Given the description of an element on the screen output the (x, y) to click on. 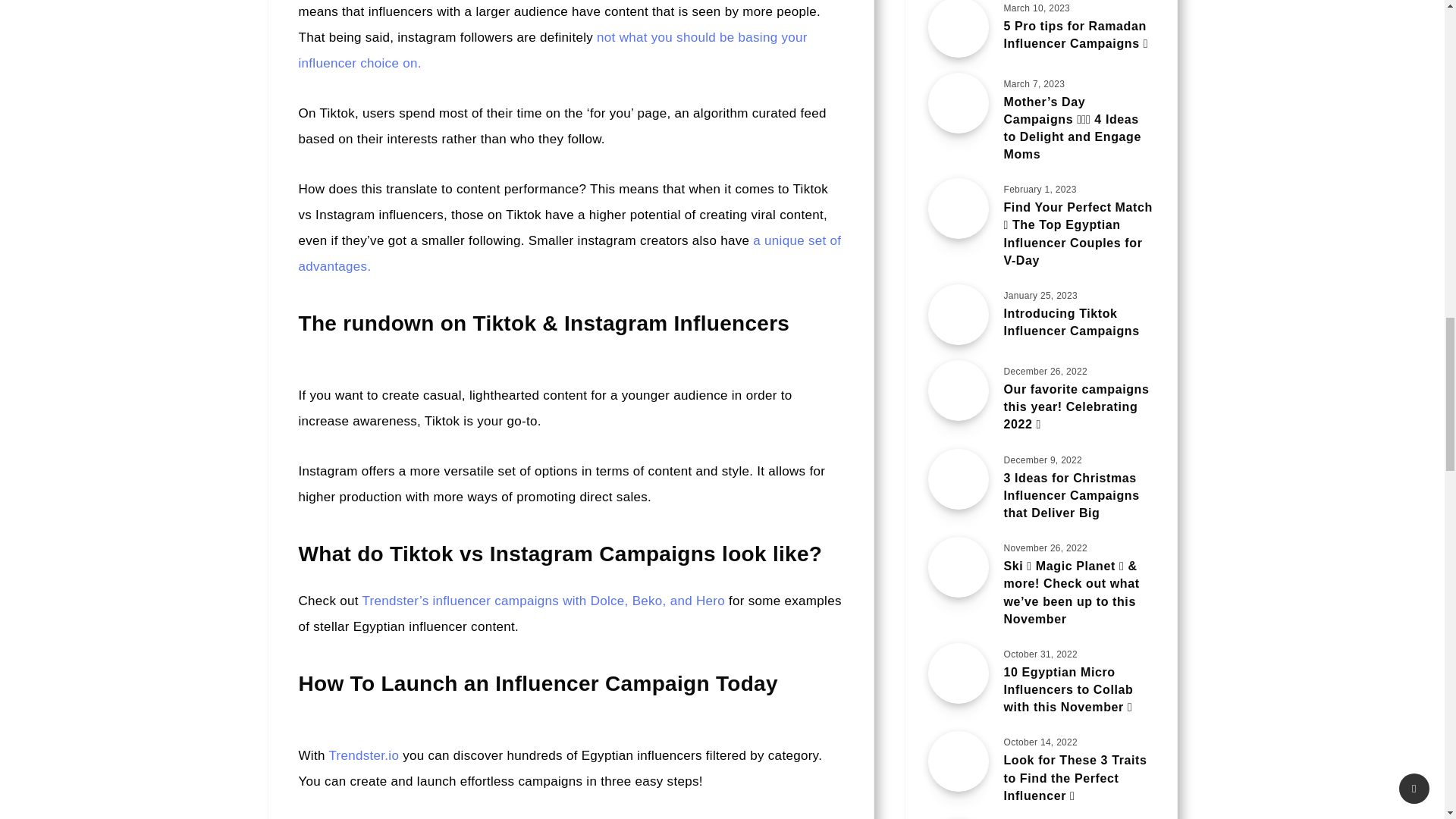
not what you should be basing your influencer choice on. (553, 50)
a unique set of advantages. (569, 253)
Trendster.io (363, 755)
